Given the description of an element on the screen output the (x, y) to click on. 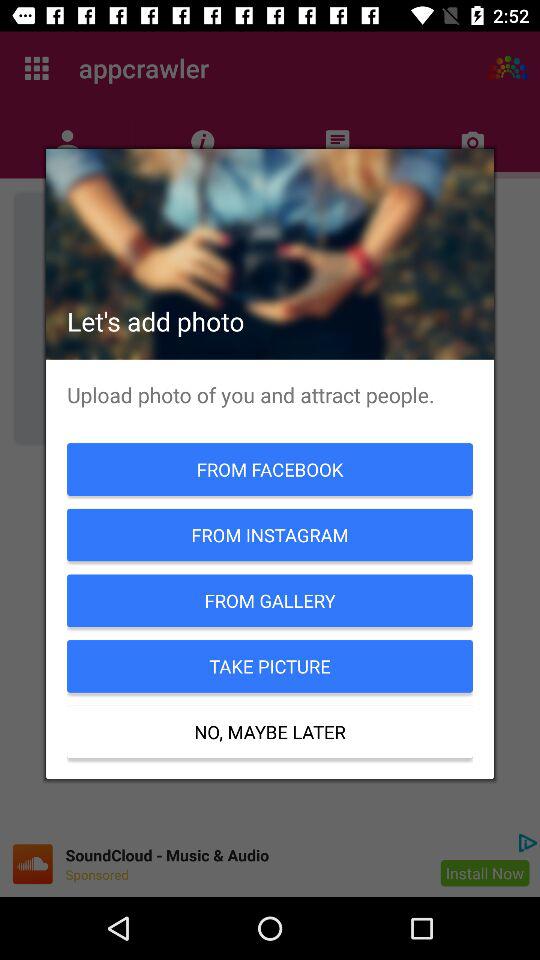
flip until from gallery (269, 600)
